Given the description of an element on the screen output the (x, y) to click on. 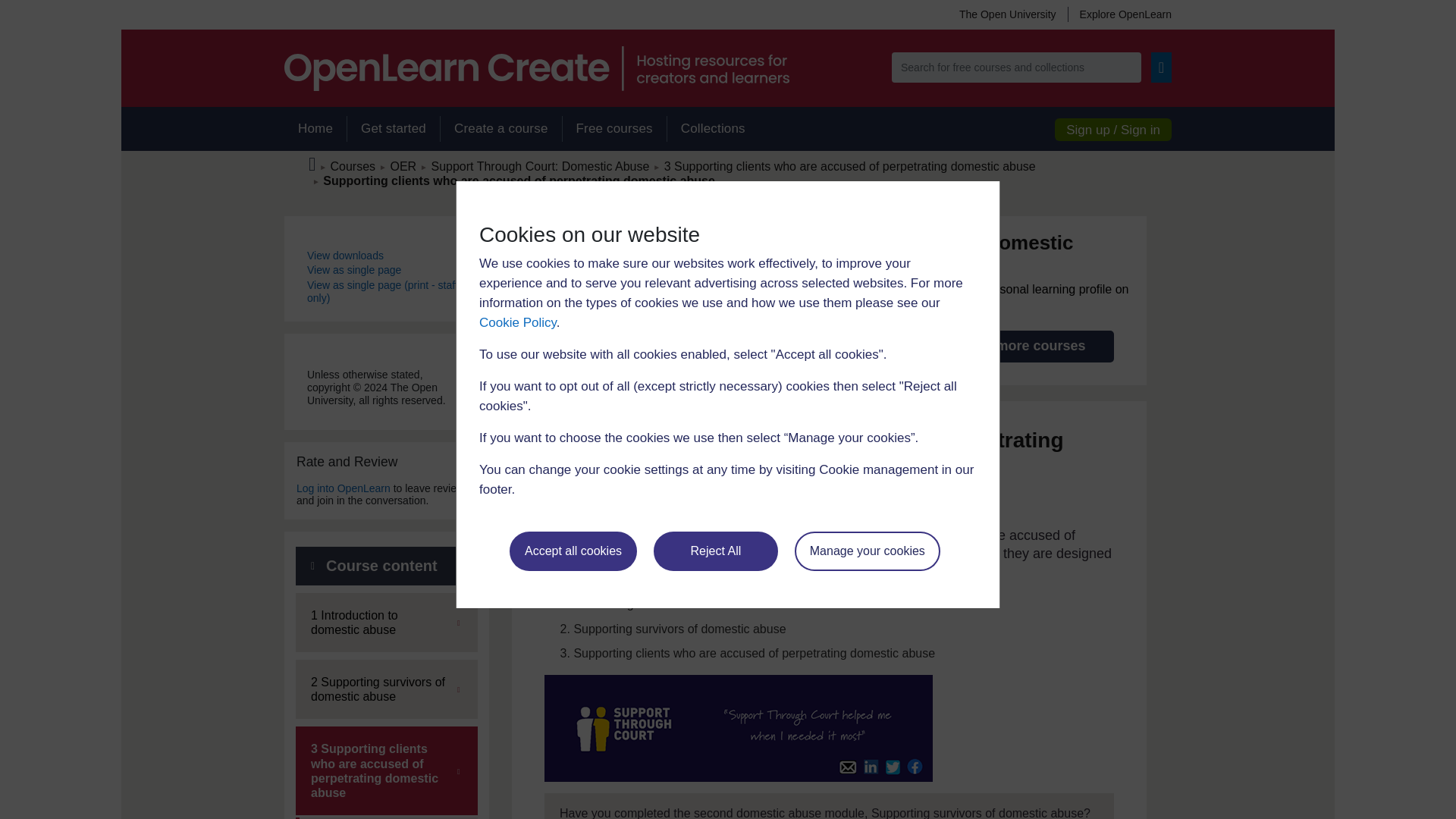
Back to course content tab (386, 566)
Reject All (715, 550)
Explore OpenLearn (1119, 14)
The Open University (1007, 14)
Cookie Policy (517, 322)
OpenLearn Create (536, 67)
Free courses (614, 128)
Get started (392, 128)
Accept all cookies (573, 550)
Create a course (500, 128)
Home (314, 128)
The Open University (1007, 14)
Manage your cookies (867, 550)
Explore OpenLearn (1119, 14)
Collections (712, 128)
